Given the description of an element on the screen output the (x, y) to click on. 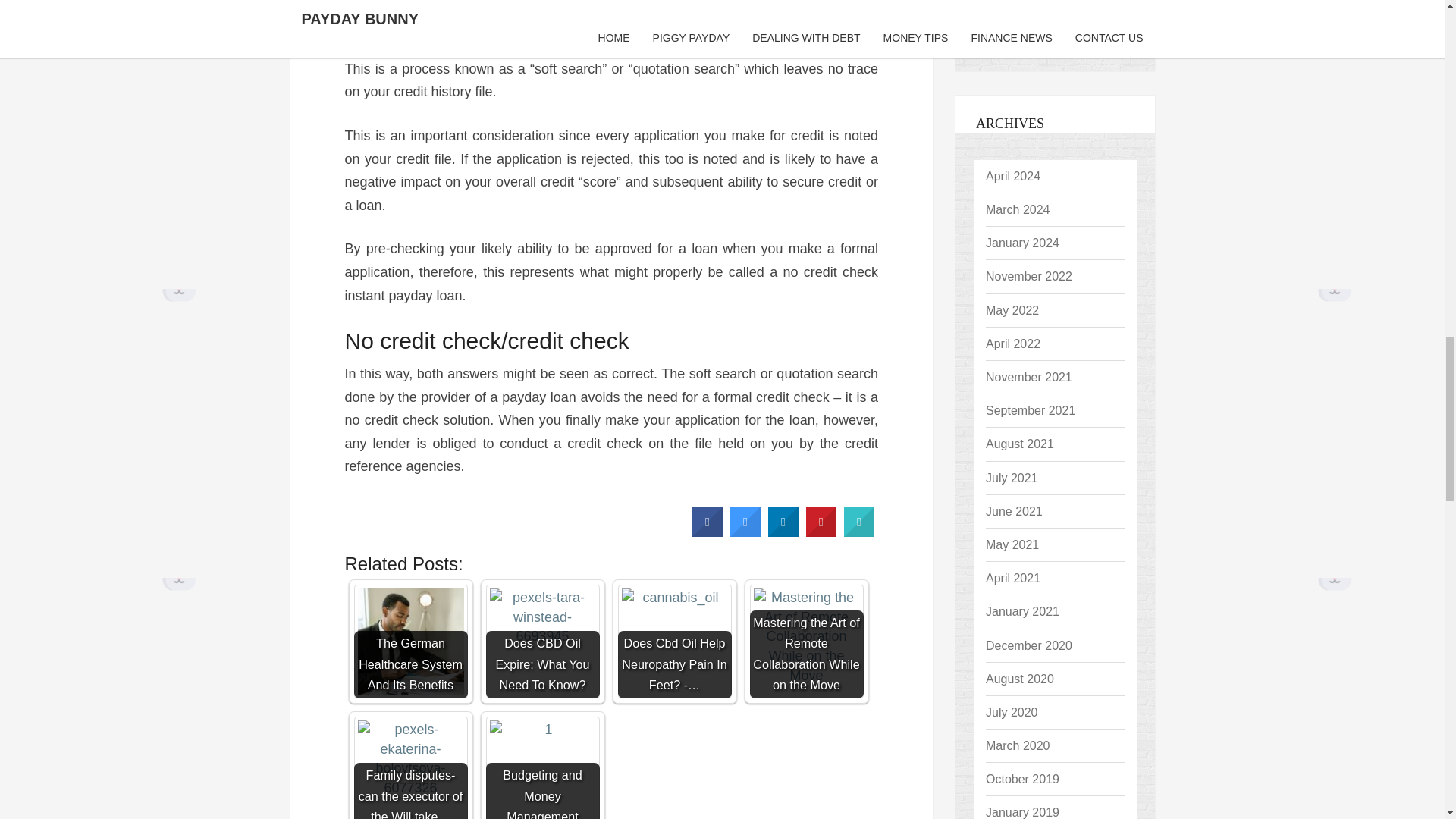
Mastering the Art of Remote Collaboration While on the Move (806, 641)
Does CBD Oil Expire: What You Need To Know? (541, 641)
Share on Facebook (707, 532)
Mastering the Art of Remote Collaboration While on the Move (806, 641)
Budgeting and Money Management (541, 767)
Print this page (859, 532)
Share on Twitter (745, 532)
The German Healthcare System And Its Benefits (410, 641)
Share on Pinterest (820, 532)
